Given the description of an element on the screen output the (x, y) to click on. 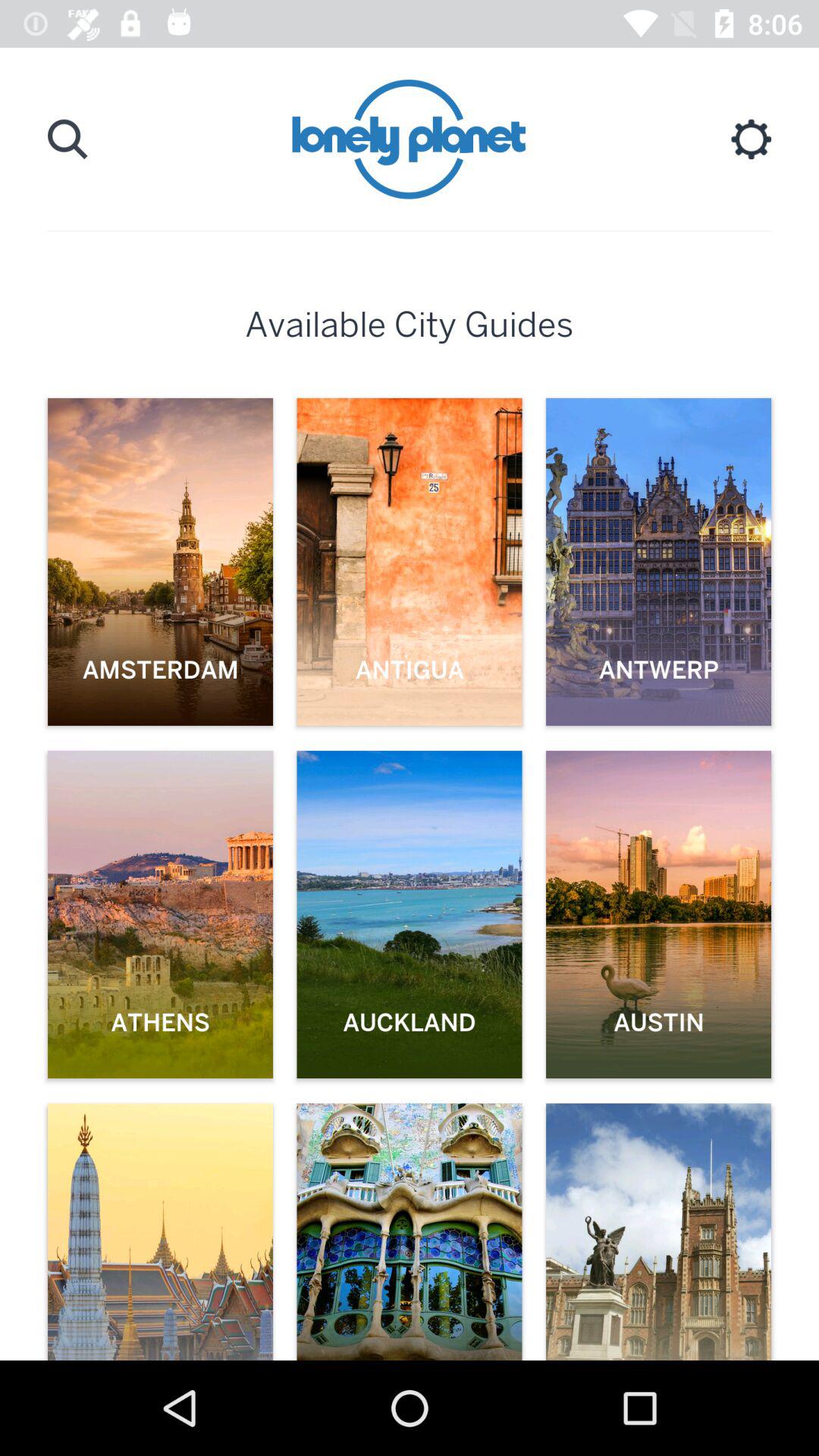
go to app settings (751, 139)
